Given the description of an element on the screen output the (x, y) to click on. 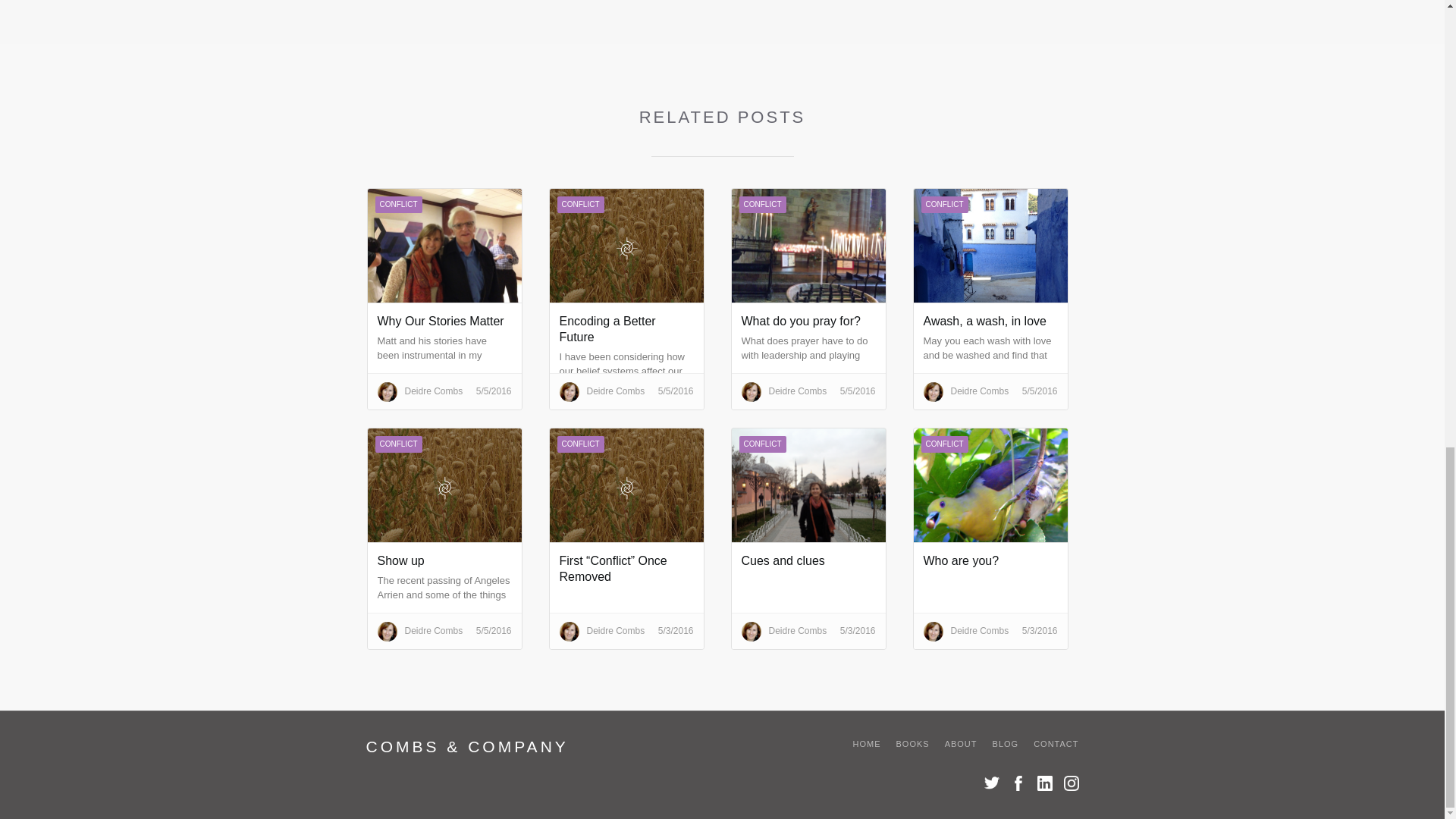
BLOG (997, 743)
ABOUT (953, 743)
BOOKS (905, 743)
CONTACT (1047, 743)
HOME (859, 743)
